Given the description of an element on the screen output the (x, y) to click on. 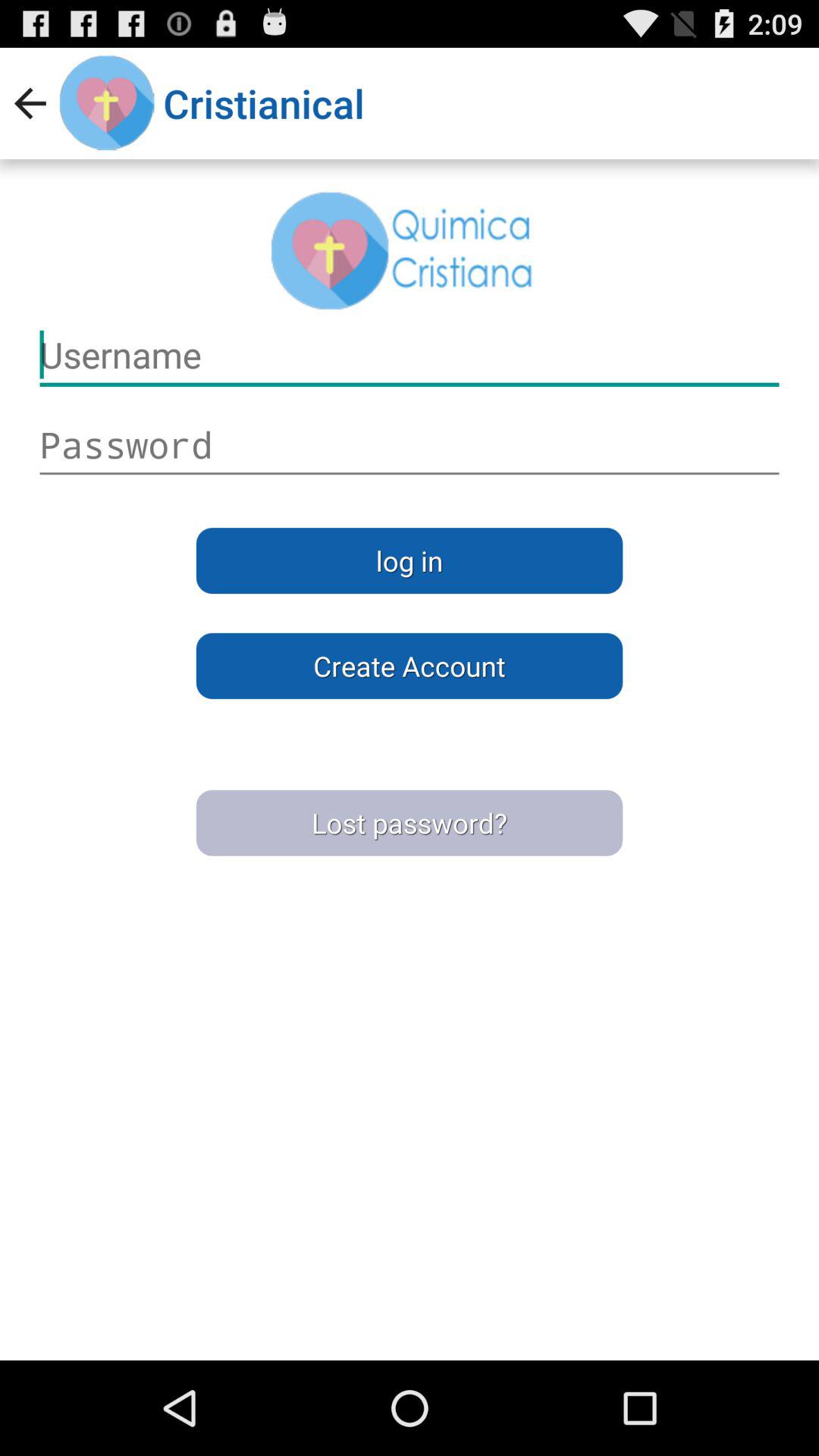
scroll to lost password? item (409, 822)
